Given the description of an element on the screen output the (x, y) to click on. 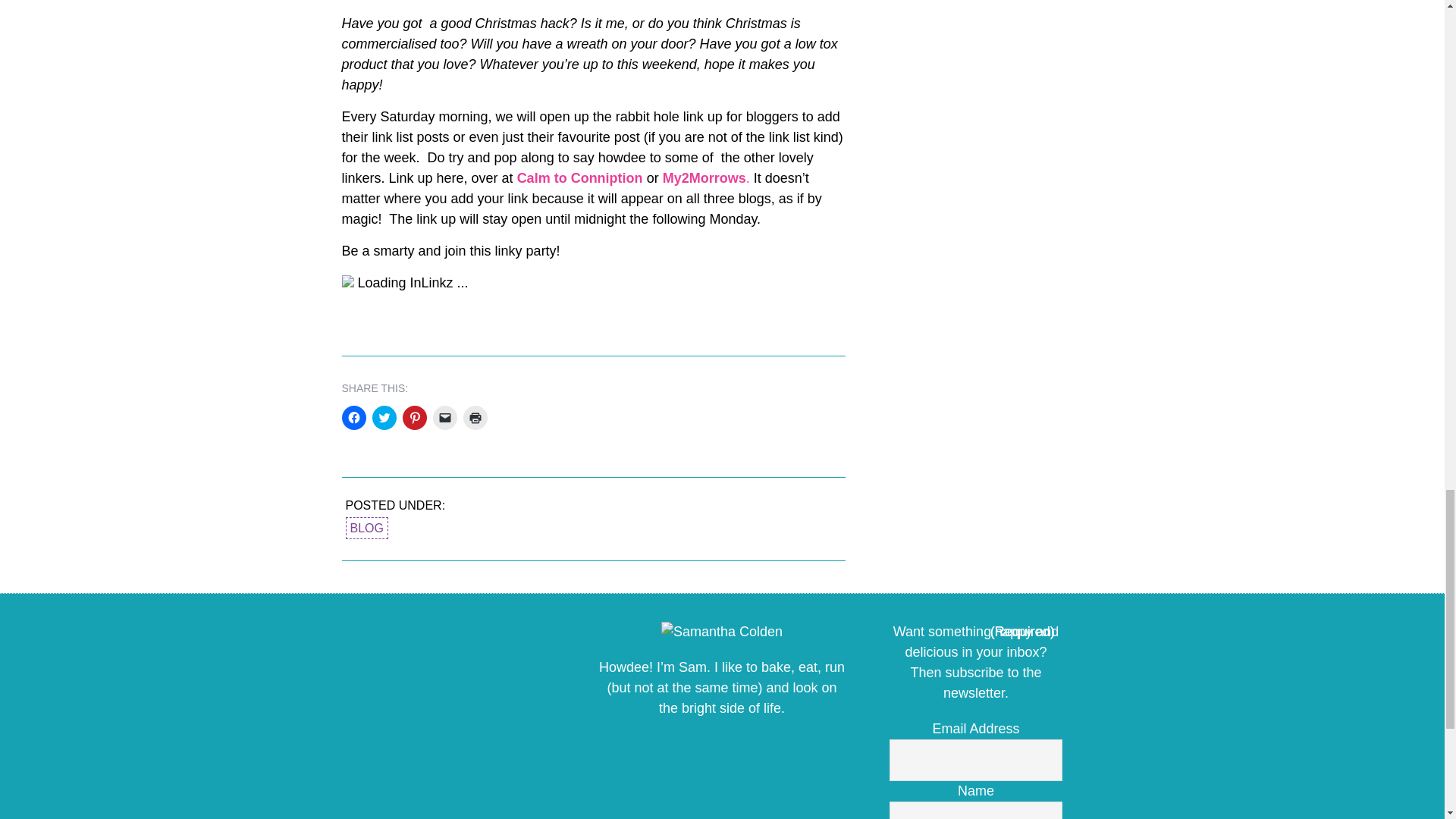
Calm to Conniption (579, 177)
Click to share on Twitter (383, 417)
Click to share on Facebook (352, 417)
Click to email a link to a friend (444, 417)
Click to print (474, 417)
Click to share on Pinterest (413, 417)
